Given the description of an element on the screen output the (x, y) to click on. 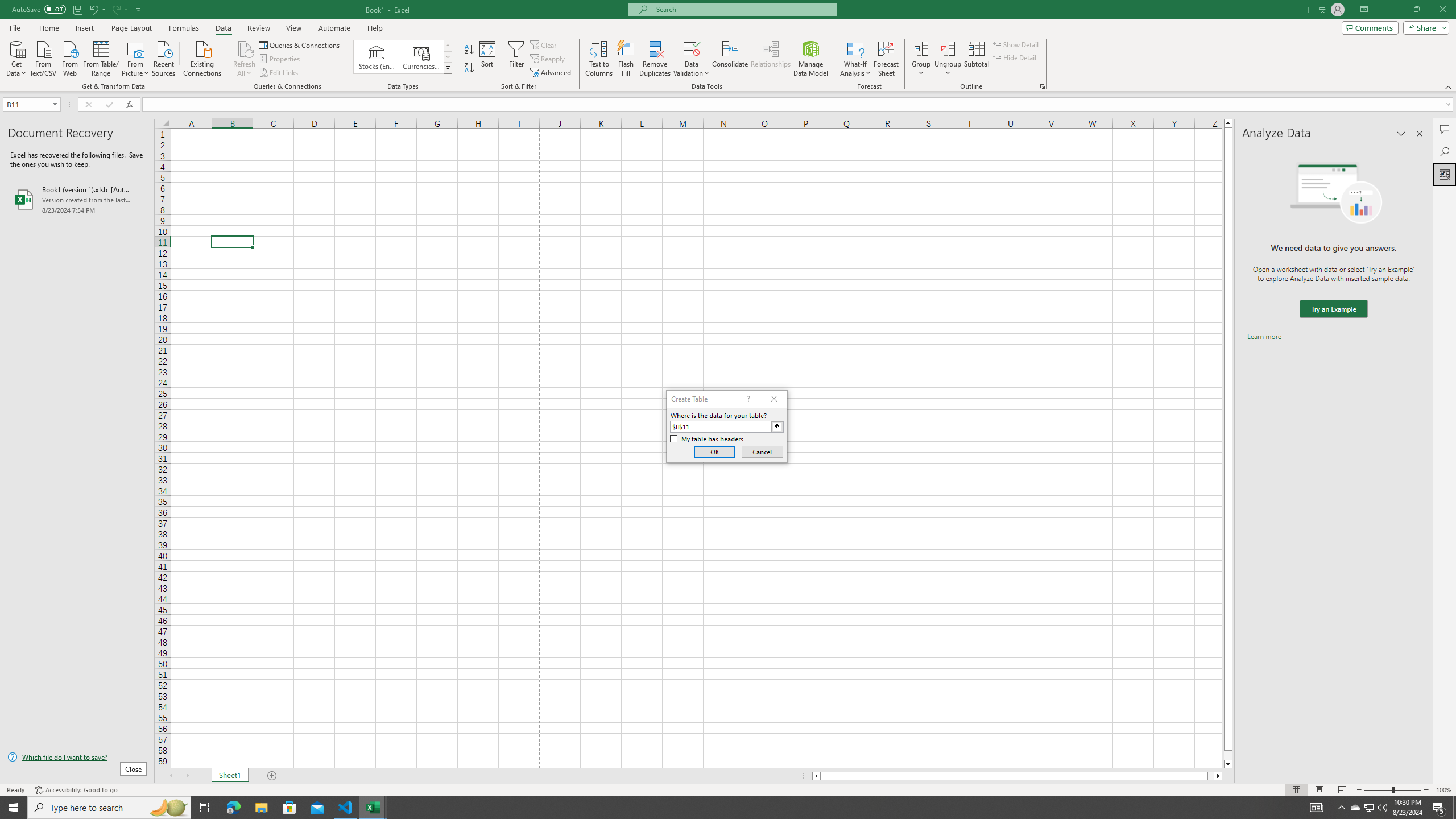
Row up (448, 45)
Manage Data Model (810, 58)
Forecast Sheet (885, 58)
Analyze Data (1444, 173)
Learn more (1264, 336)
